Given the description of an element on the screen output the (x, y) to click on. 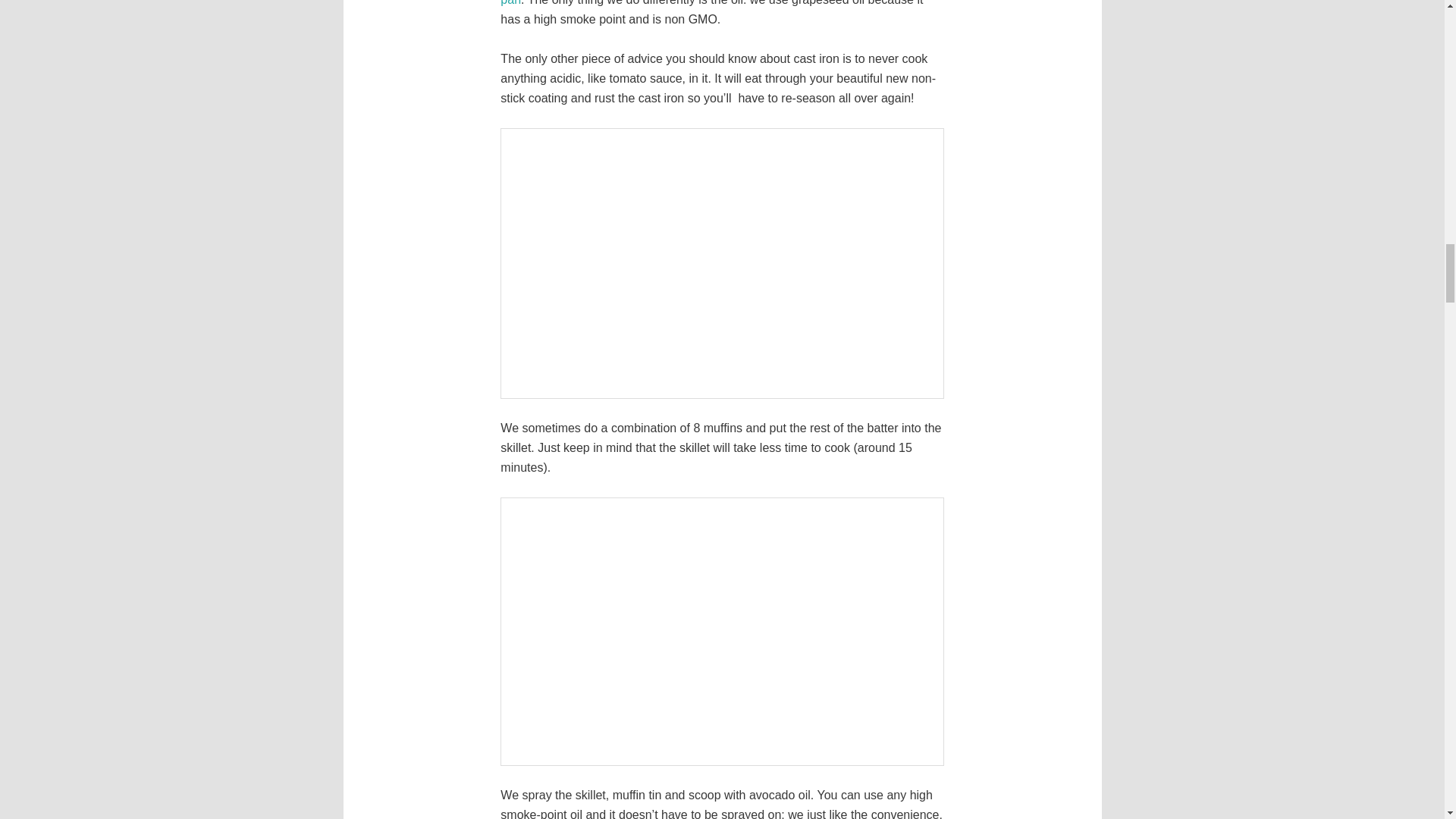
how to season your cast iron pan (713, 2)
